Given the description of an element on the screen output the (x, y) to click on. 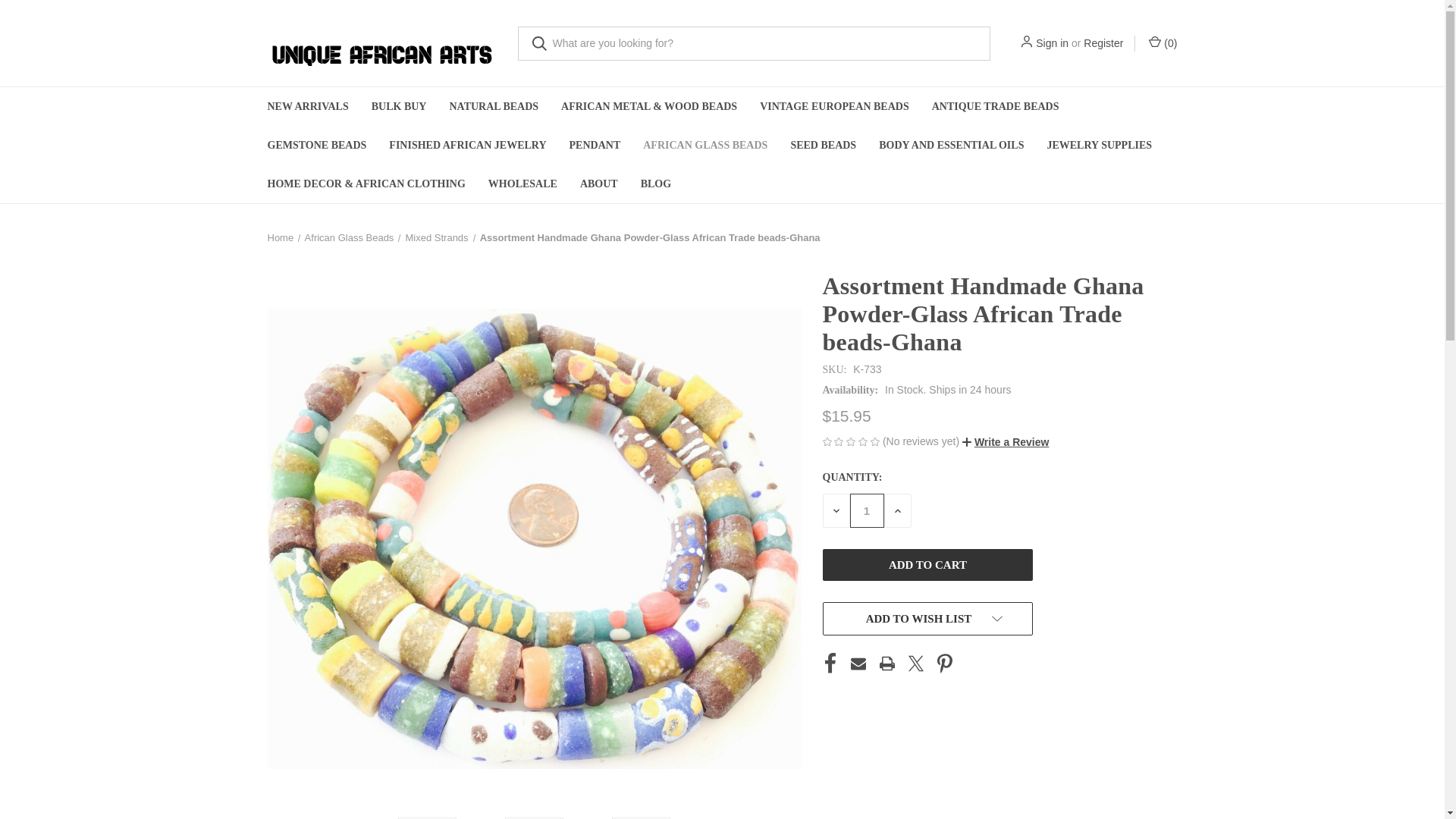
ANTIQUE TRADE BEADS (995, 106)
1 (865, 510)
GEMSTONE BEADS (317, 145)
Add to Cart (927, 564)
VINTAGE EUROPEAN BEADS (834, 106)
Sign in (1051, 42)
UniqueAfricanArts.com (380, 43)
Register (1102, 42)
BULK BUY (398, 106)
